Given the description of an element on the screen output the (x, y) to click on. 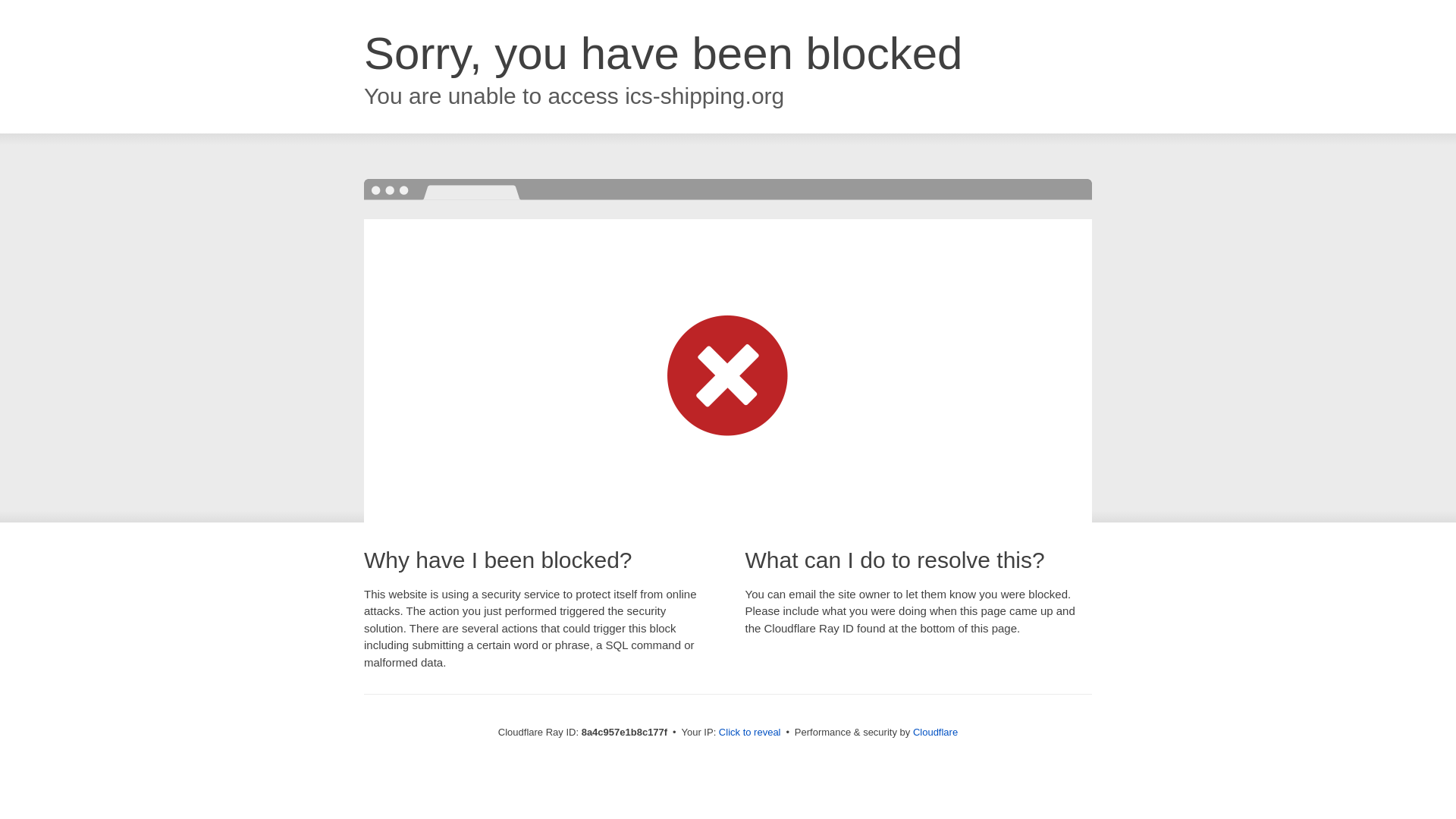
Cloudflare (935, 731)
Click to reveal (749, 732)
